Given the description of an element on the screen output the (x, y) to click on. 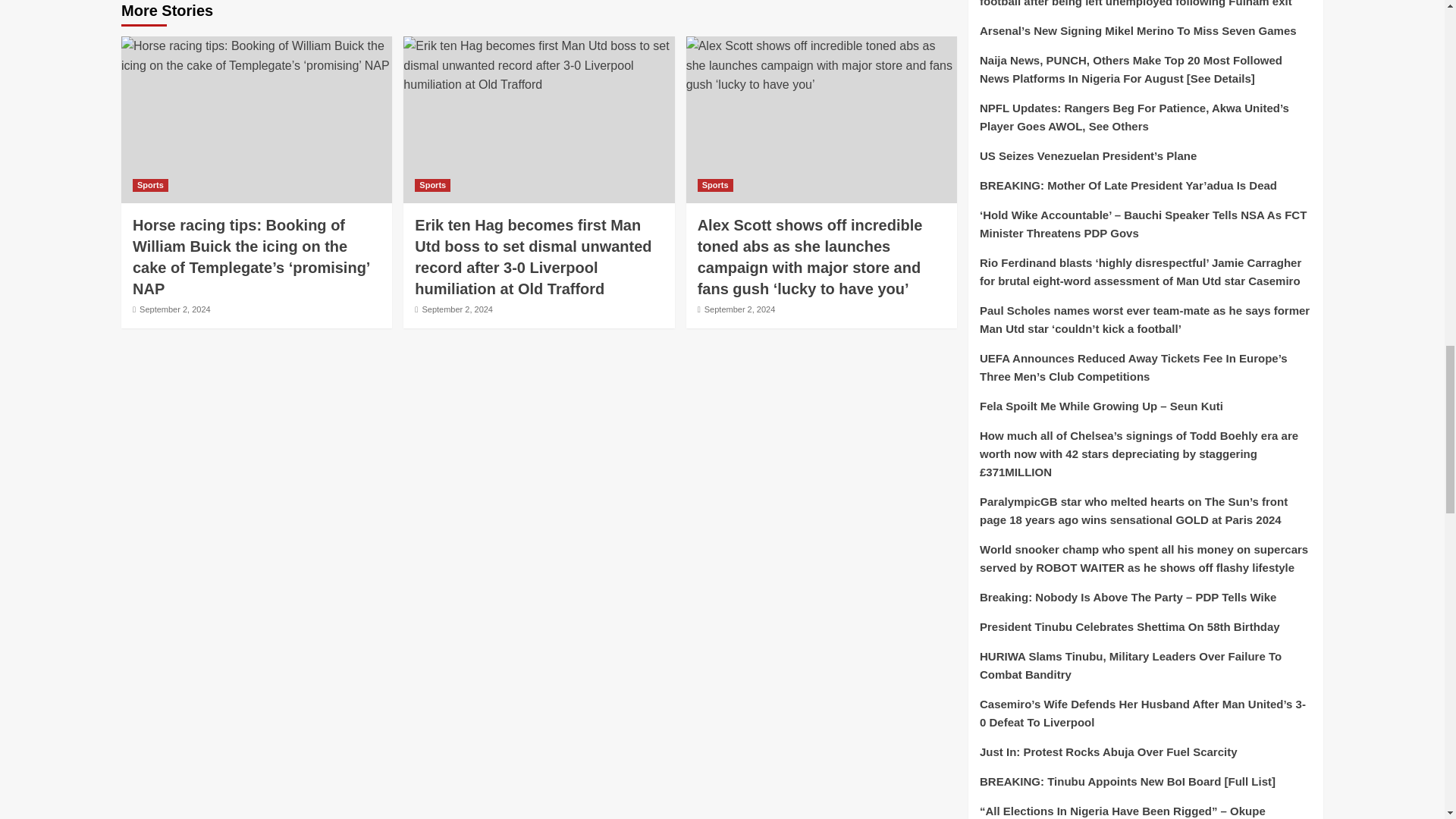
Sports (431, 185)
September 2, 2024 (457, 308)
Sports (715, 185)
September 2, 2024 (175, 308)
Sports (150, 185)
